Given the description of an element on the screen output the (x, y) to click on. 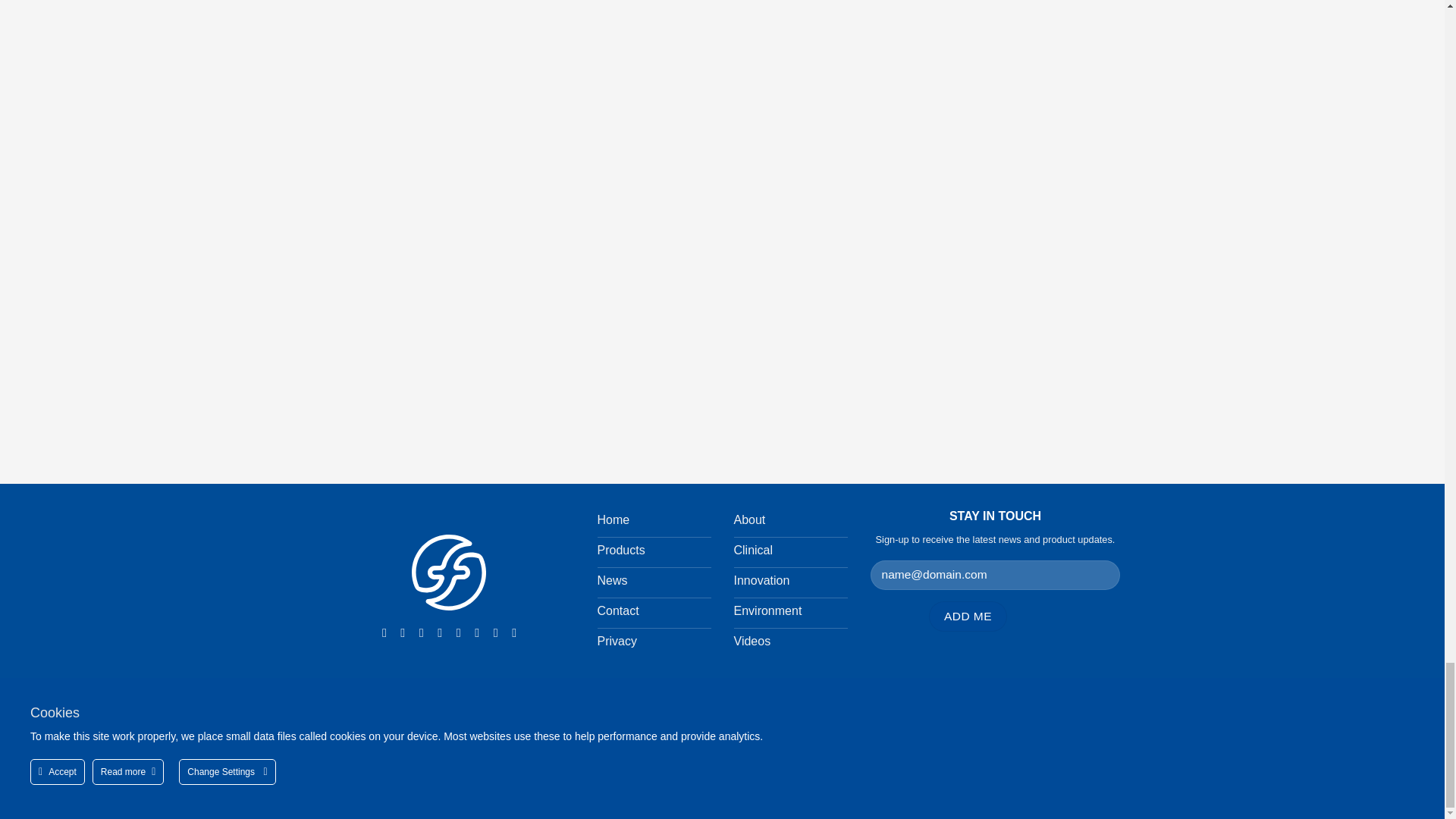
Add Me (967, 615)
